Given the description of an element on the screen output the (x, y) to click on. 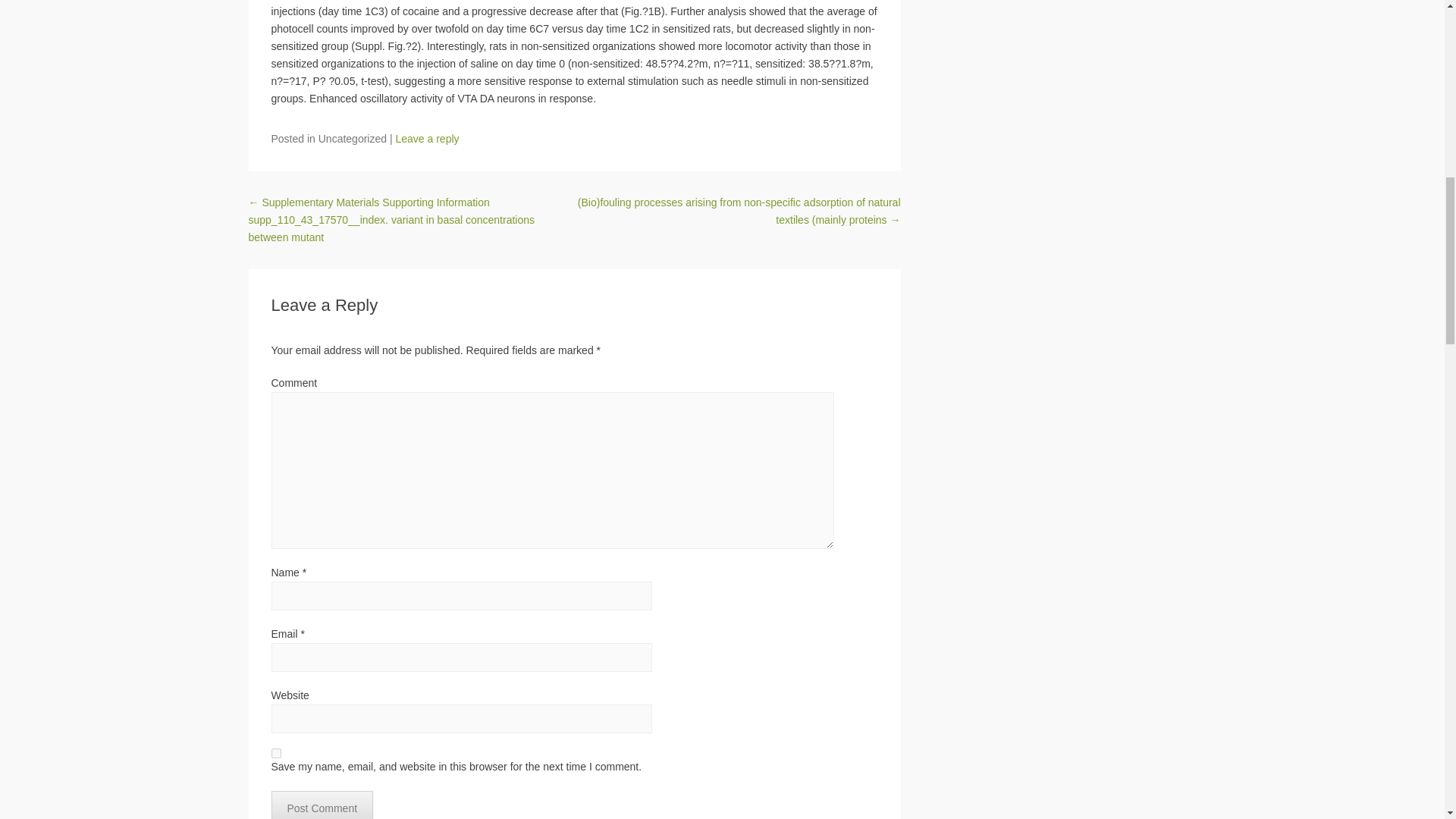
Post Comment (322, 805)
yes (275, 753)
Leave a reply (426, 138)
Post Comment (322, 805)
